Given the description of an element on the screen output the (x, y) to click on. 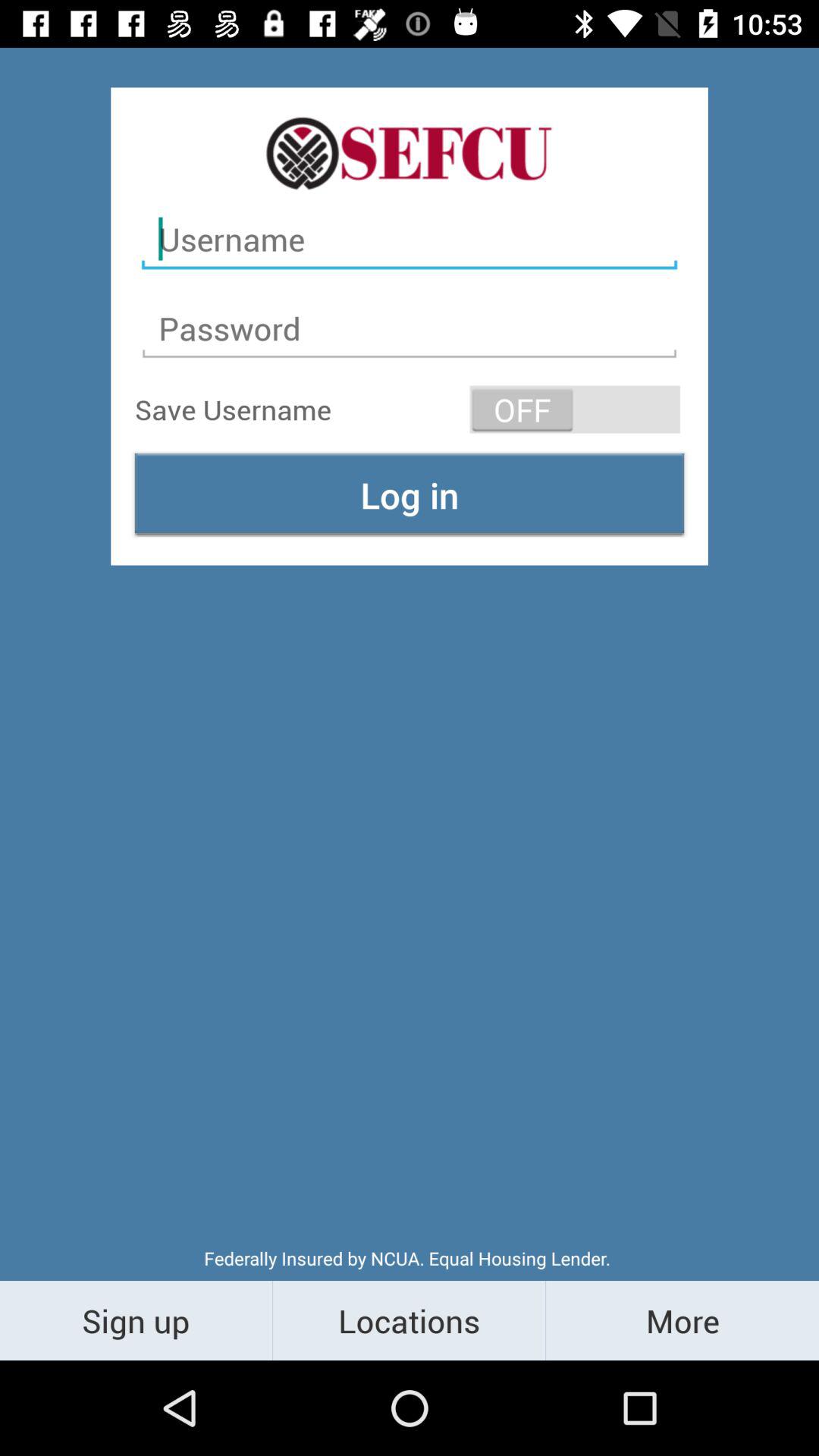
click sign up icon (136, 1320)
